Given the description of an element on the screen output the (x, y) to click on. 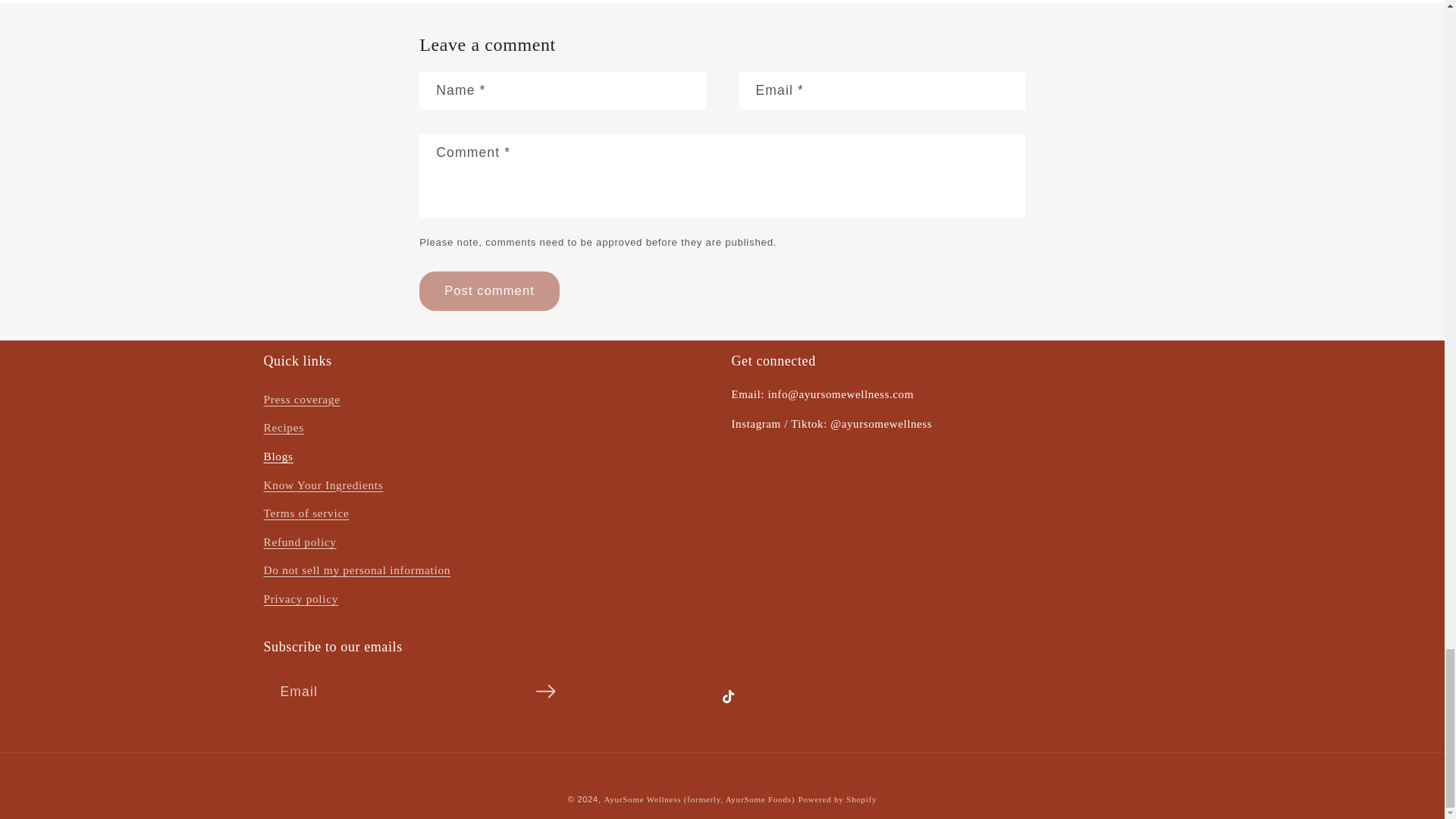
Do not sell my personal information (357, 570)
Post comment (489, 291)
Terms of service (306, 513)
Refund policy (299, 541)
Press coverage (301, 401)
Post comment (489, 291)
Know Your Ingredients (323, 484)
Blogs (278, 457)
Recipes (283, 428)
